Given the description of an element on the screen output the (x, y) to click on. 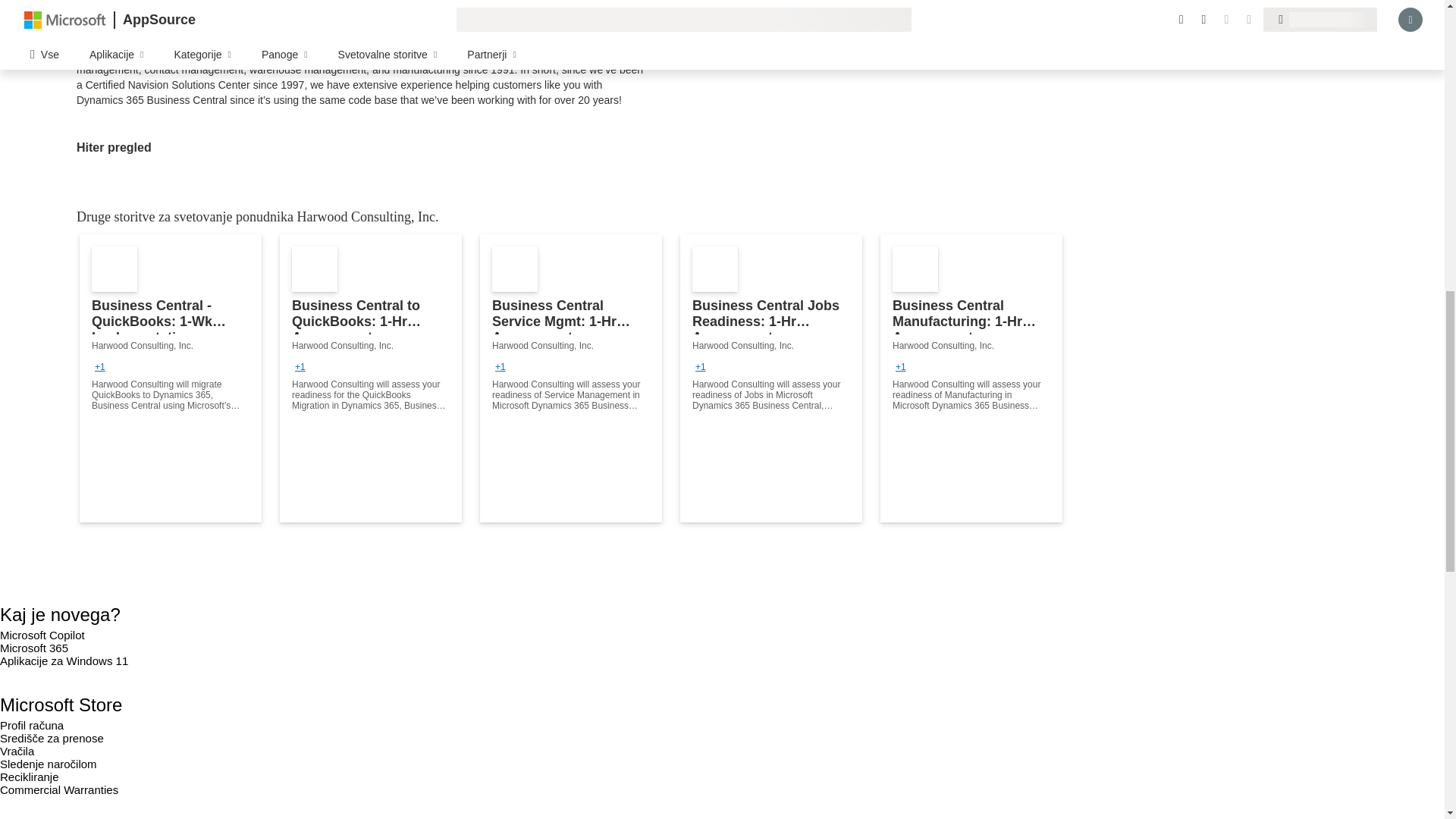
Recikliranje (29, 776)
Microsoft 365 (34, 647)
Microsoft Copilot (42, 634)
Aplikacije za Windows 11 (64, 660)
Commercial Warranties (58, 789)
